Given the description of an element on the screen output the (x, y) to click on. 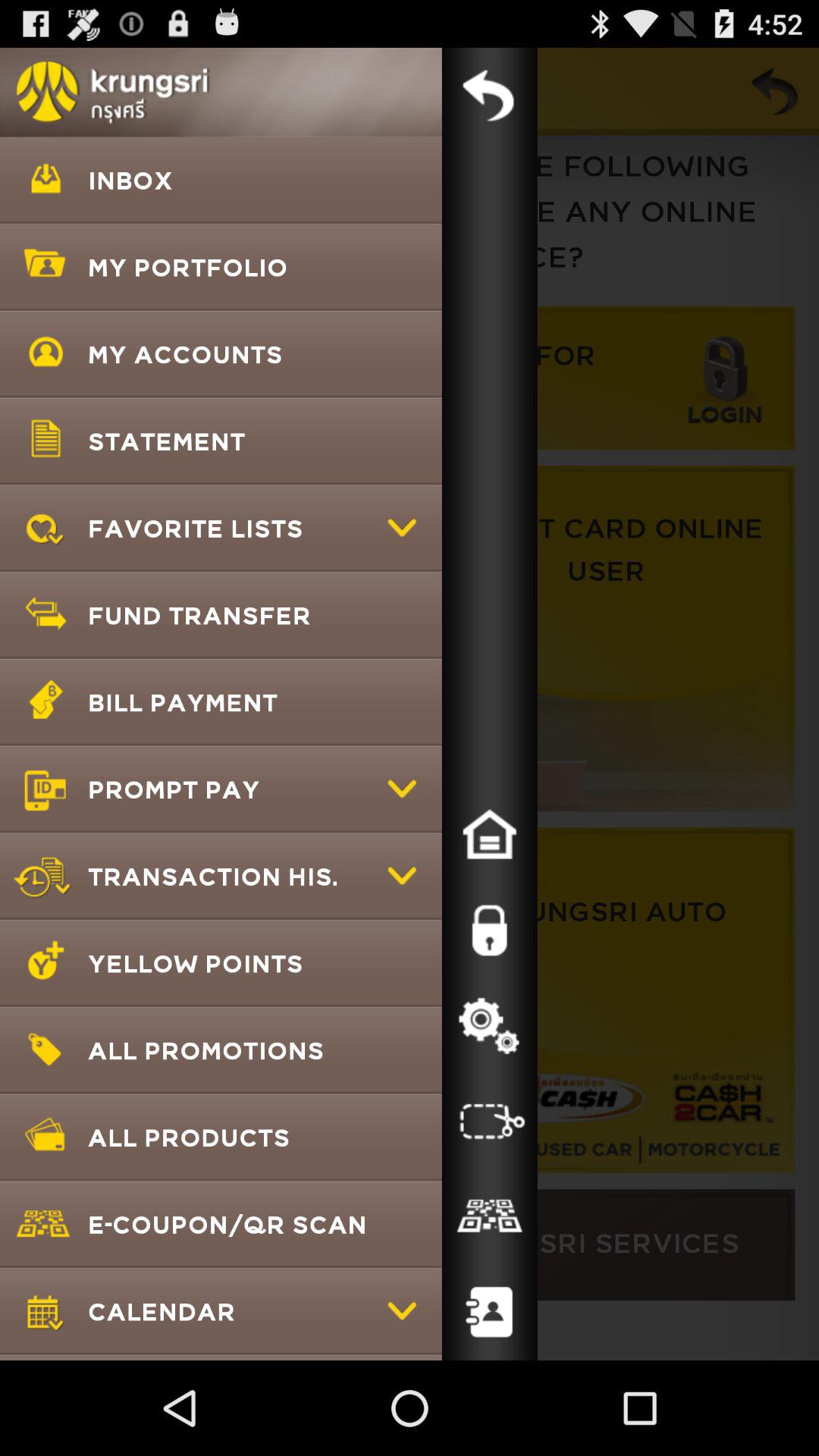
to the e-coupon or qr code option (489, 1216)
